Given the description of an element on the screen output the (x, y) to click on. 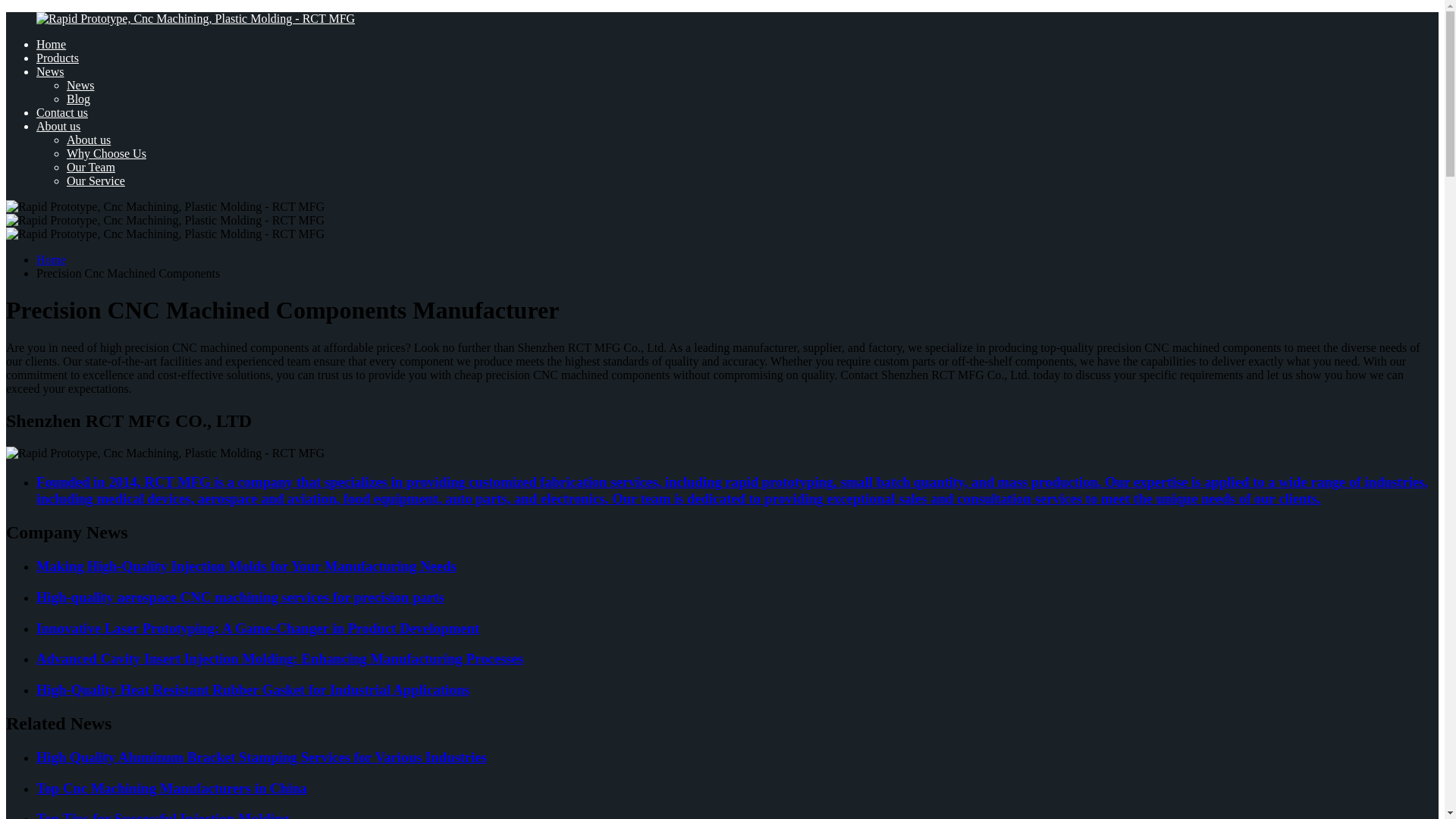
Products (57, 57)
Home (50, 43)
Blog (78, 98)
News (80, 84)
Contact us (61, 112)
About us (58, 125)
Our Service (95, 180)
About us (88, 139)
News (50, 71)
Home (50, 259)
Why Choose Us (106, 153)
Our Team (90, 166)
